Given the description of an element on the screen output the (x, y) to click on. 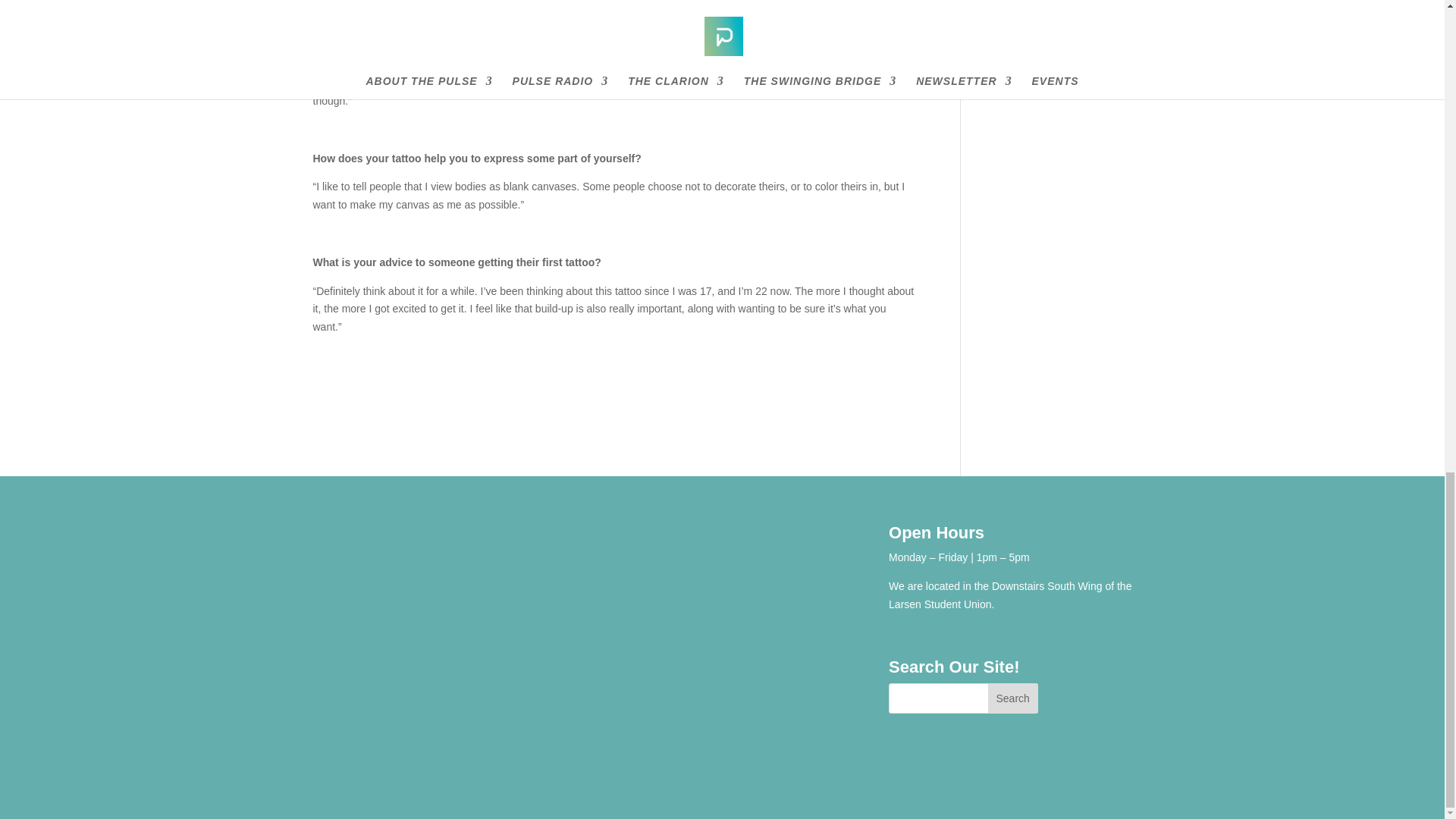
Search (1013, 698)
